Given the description of an element on the screen output the (x, y) to click on. 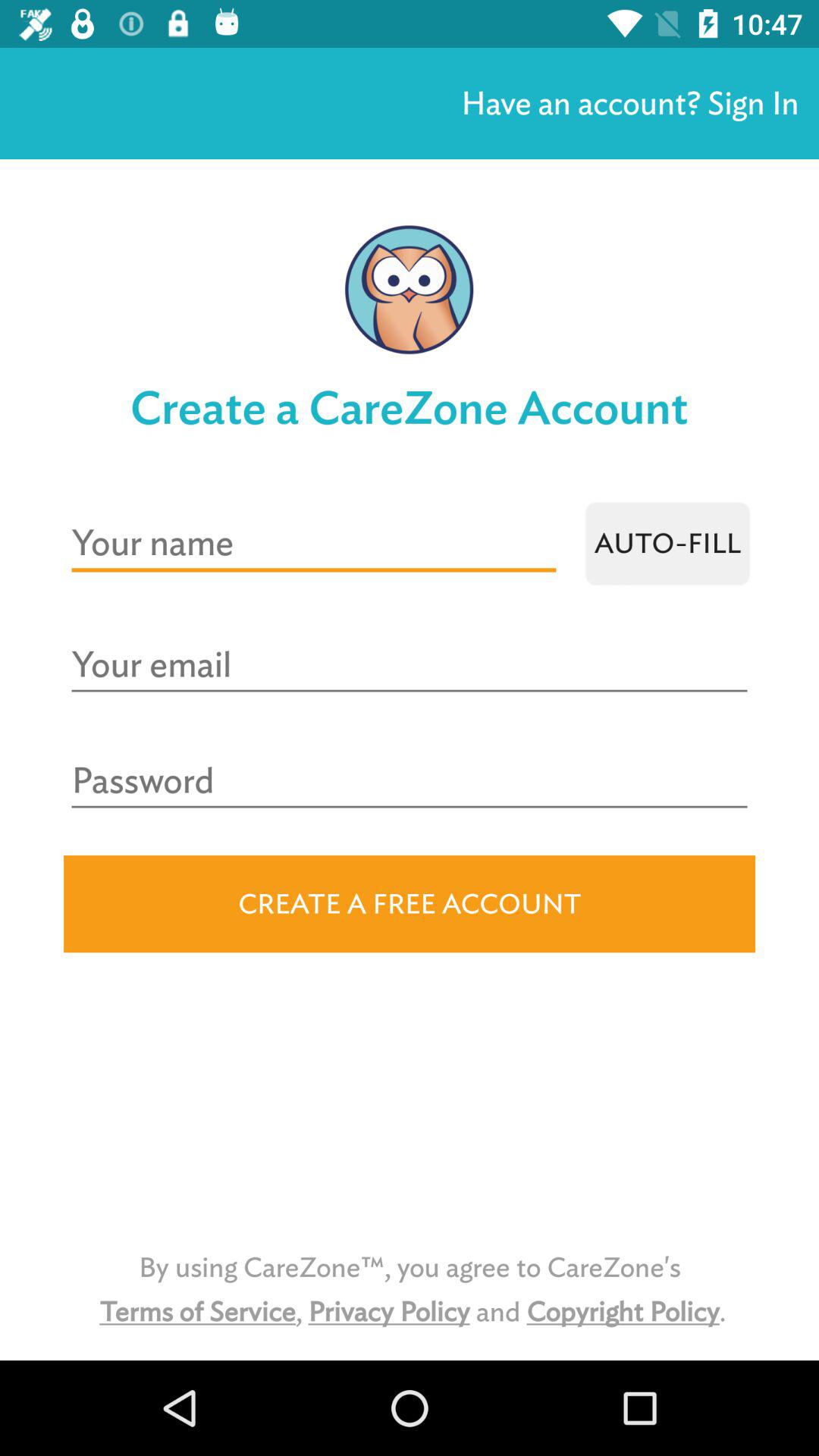
name input field (313, 543)
